Given the description of an element on the screen output the (x, y) to click on. 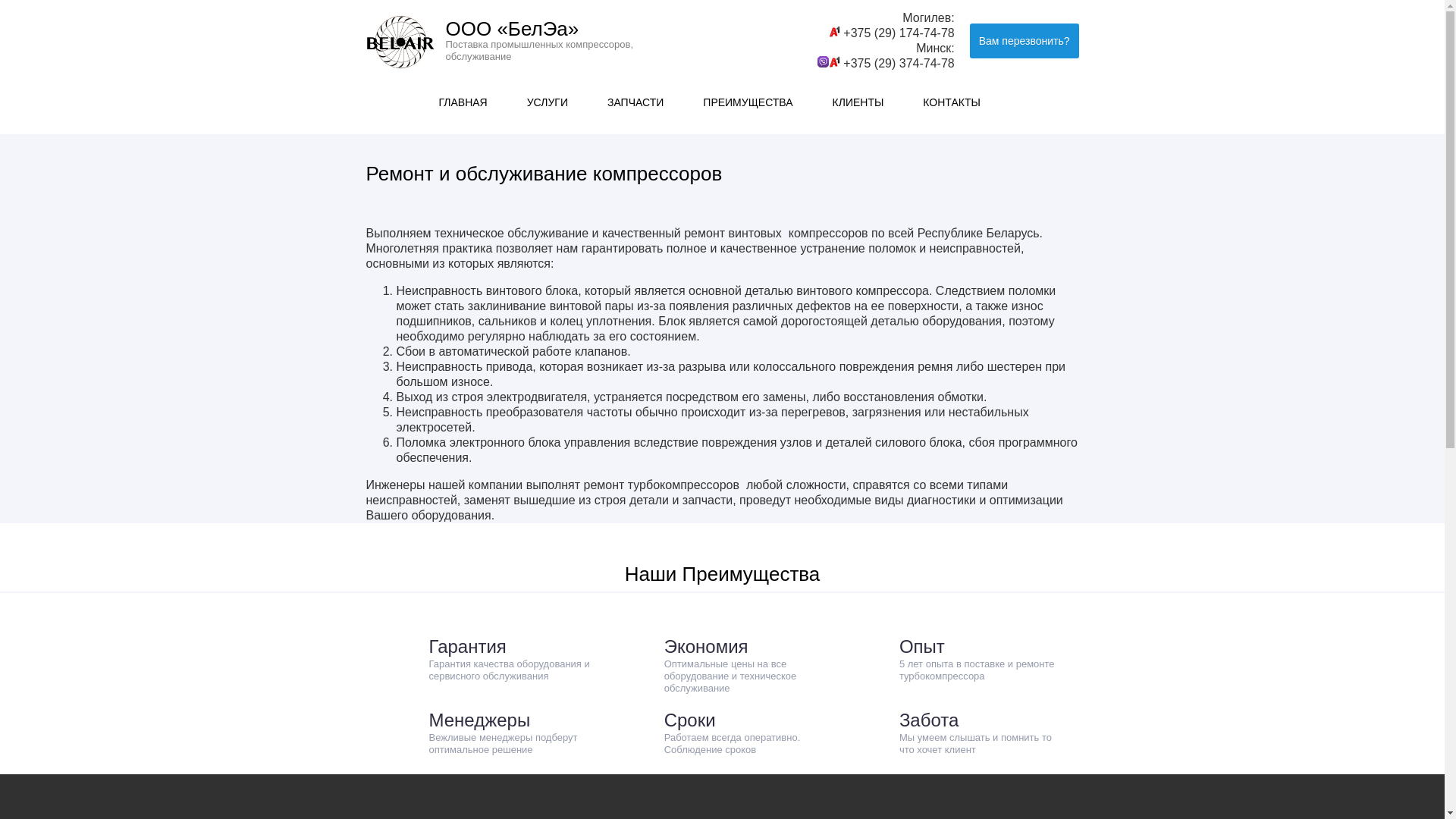
+375 (29) 174-74-78 Element type: text (898, 32)
+375 (29) 374-74-78 Element type: text (898, 62)
